Given the description of an element on the screen output the (x, y) to click on. 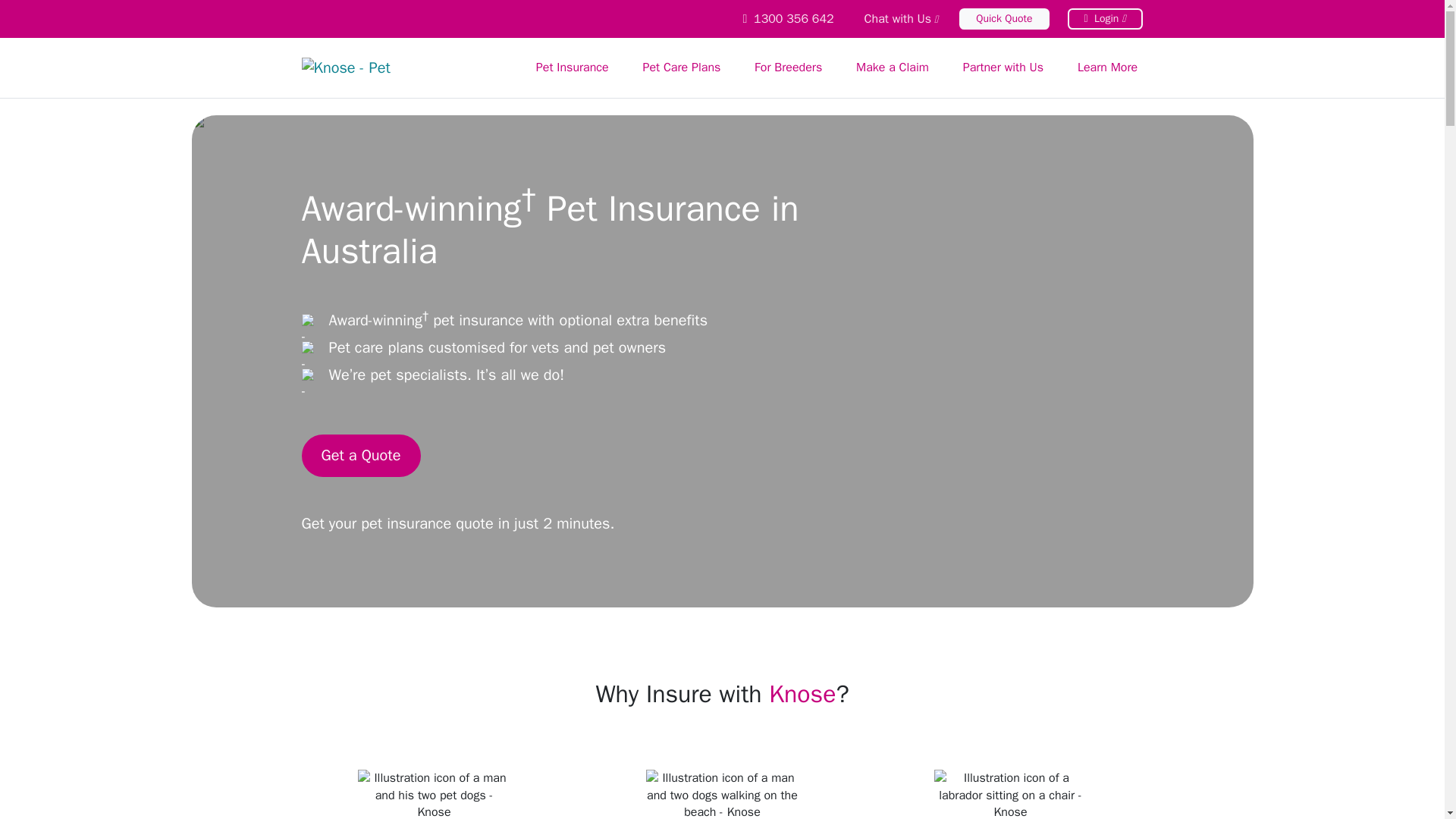
Pet Care Plans (682, 67)
1300 356 642 (787, 18)
Login (1104, 19)
Learn More (1106, 67)
Make a Claim (893, 67)
For Breeders (789, 67)
Partner with Us (1001, 67)
Chat (900, 18)
Quick Quote (1003, 19)
Pet Insurance (572, 67)
